Given the description of an element on the screen output the (x, y) to click on. 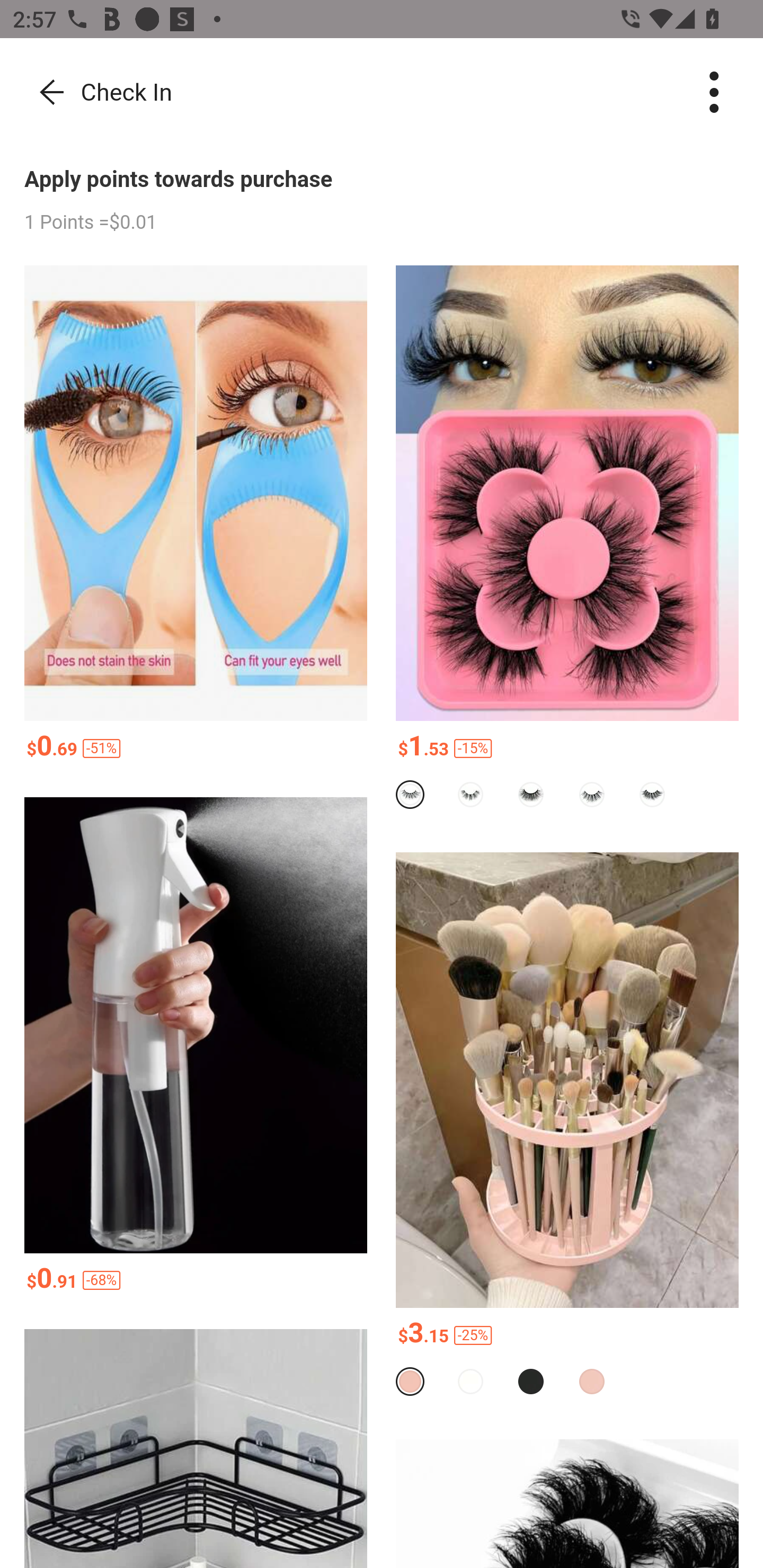
Check In (98, 92)
$0.69-51% (195, 749)
$1.53-15% (566, 749)
$0.91-68% (195, 1281)
$3.15-25% (566, 1336)
